Given the description of an element on the screen output the (x, y) to click on. 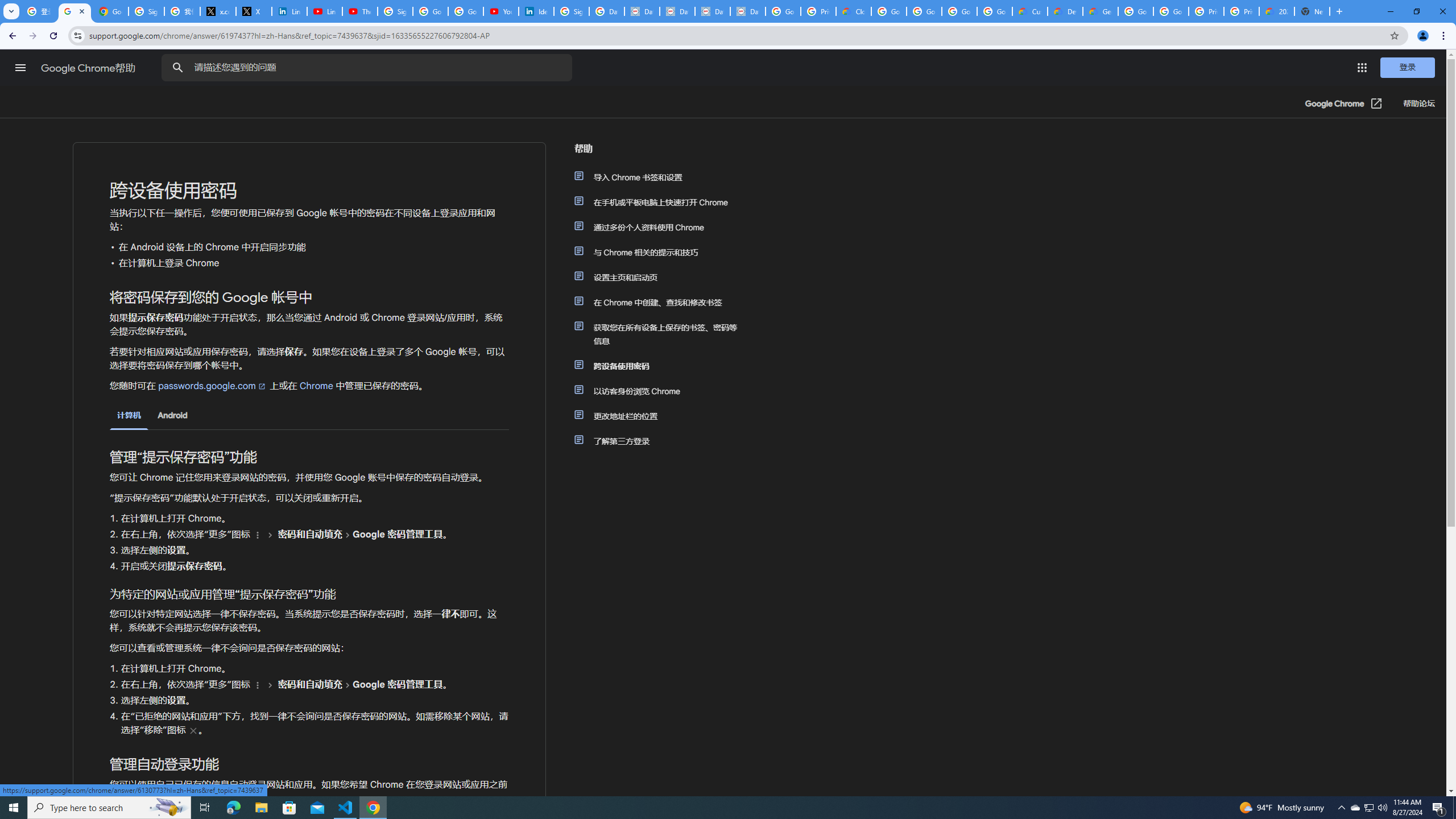
X (253, 11)
LinkedIn Privacy Policy (288, 11)
